Given the description of an element on the screen output the (x, y) to click on. 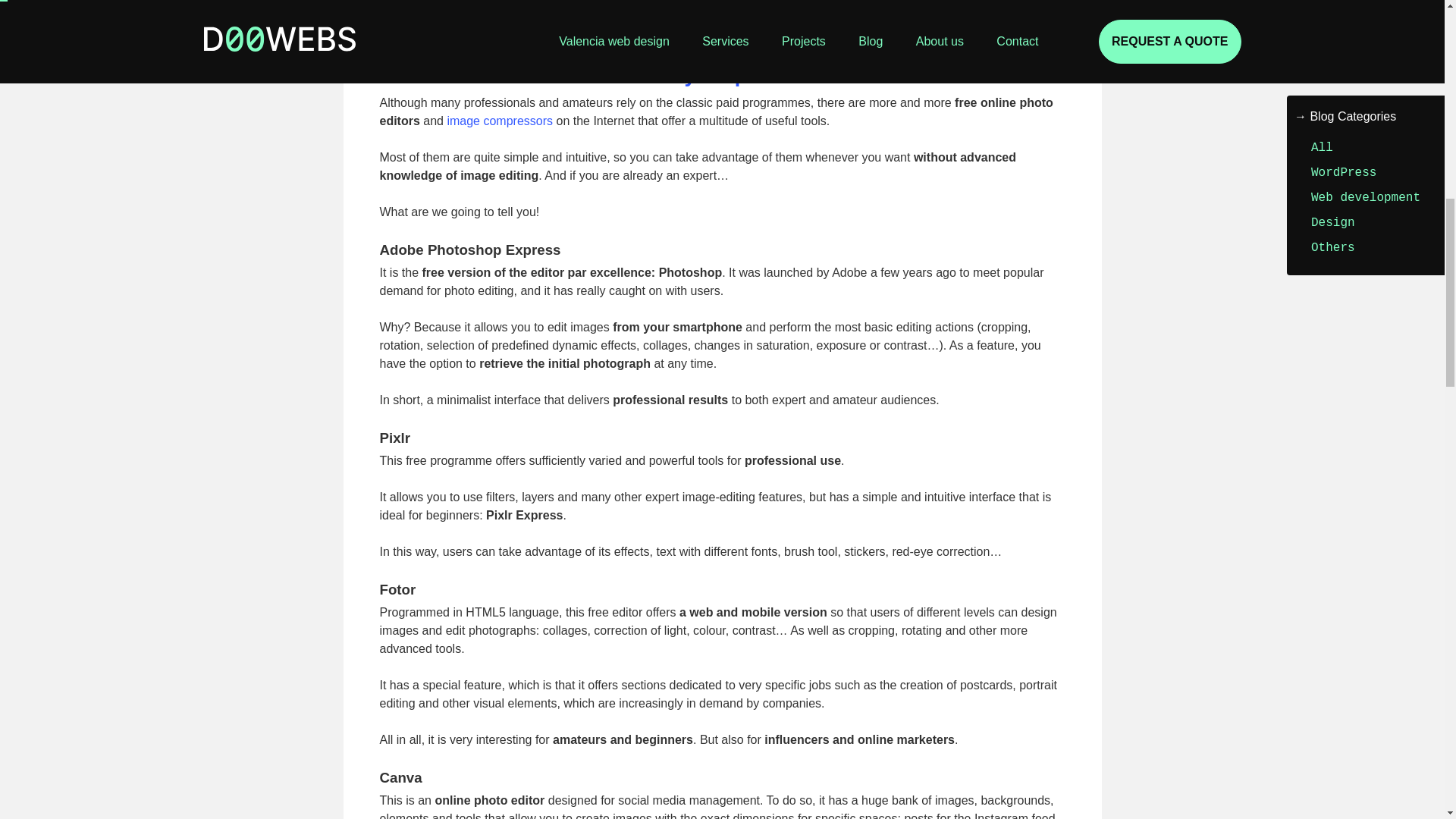
Photopea (436, 26)
PhotoScape X (447, 9)
Photopea (436, 26)
Canva (429, 0)
PhotoScape X (447, 9)
image compressors (499, 120)
Canva (429, 0)
